Given the description of an element on the screen output the (x, y) to click on. 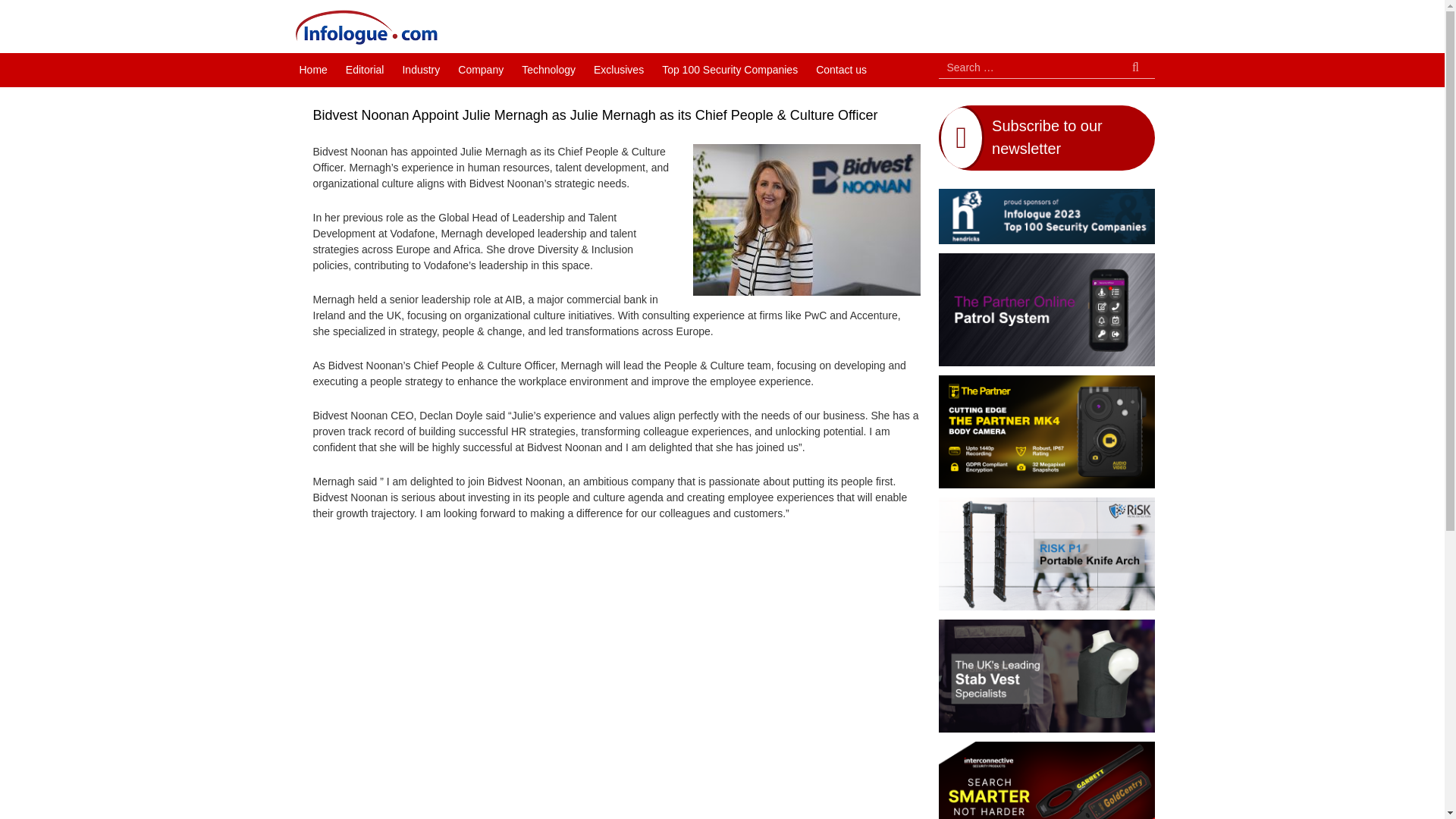
Editorial (364, 69)
Exclusives (618, 69)
Company (480, 69)
Contact us (841, 69)
Home (312, 69)
Top 100 Security Companies (729, 69)
Technology (548, 69)
Industry (420, 69)
